Given the description of an element on the screen output the (x, y) to click on. 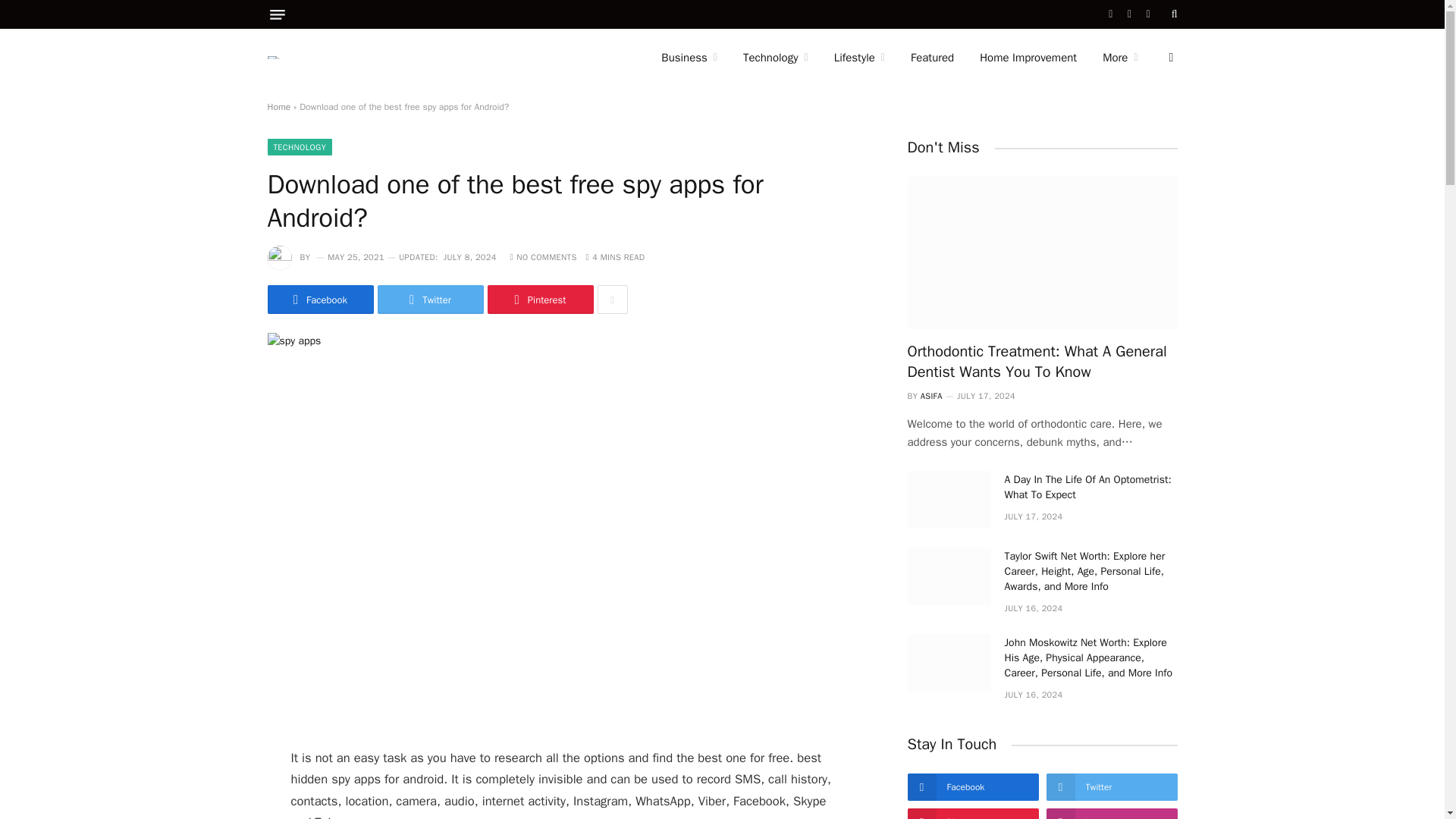
Show More Social Sharing (611, 299)
Switch to Dark Design - easier on eyes. (1169, 57)
Share on Facebook (319, 299)
Home Improvement (1027, 57)
Featured (932, 57)
Technology (775, 57)
Lifestyle (859, 57)
More (1119, 57)
Business (688, 57)
Share on Pinterest (539, 299)
